Given the description of an element on the screen output the (x, y) to click on. 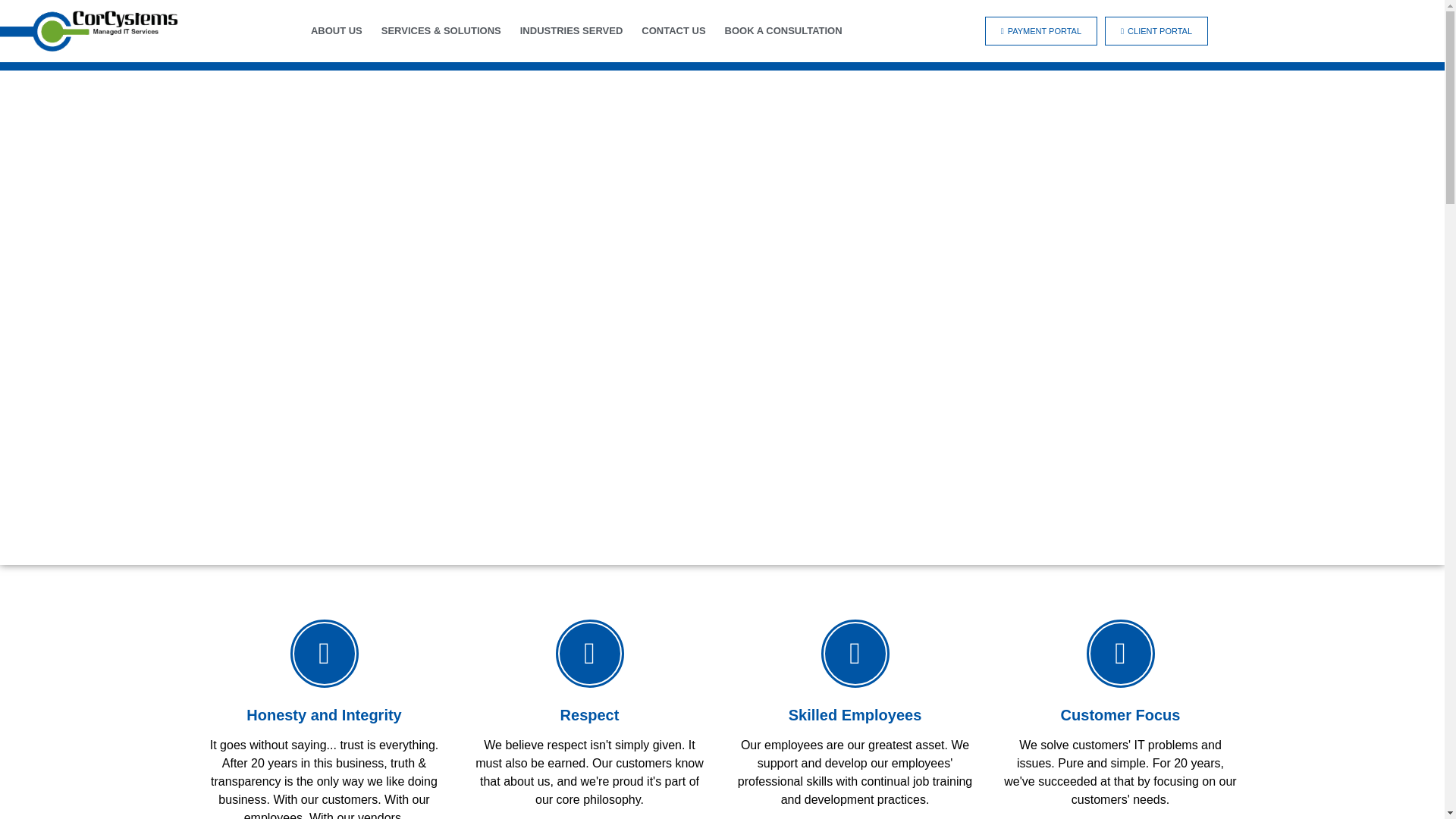
INDUSTRIES SERVED (571, 30)
CONTACT US (673, 30)
BOOK A CONSULTATION (784, 30)
ABOUT US (336, 30)
